Given the description of an element on the screen output the (x, y) to click on. 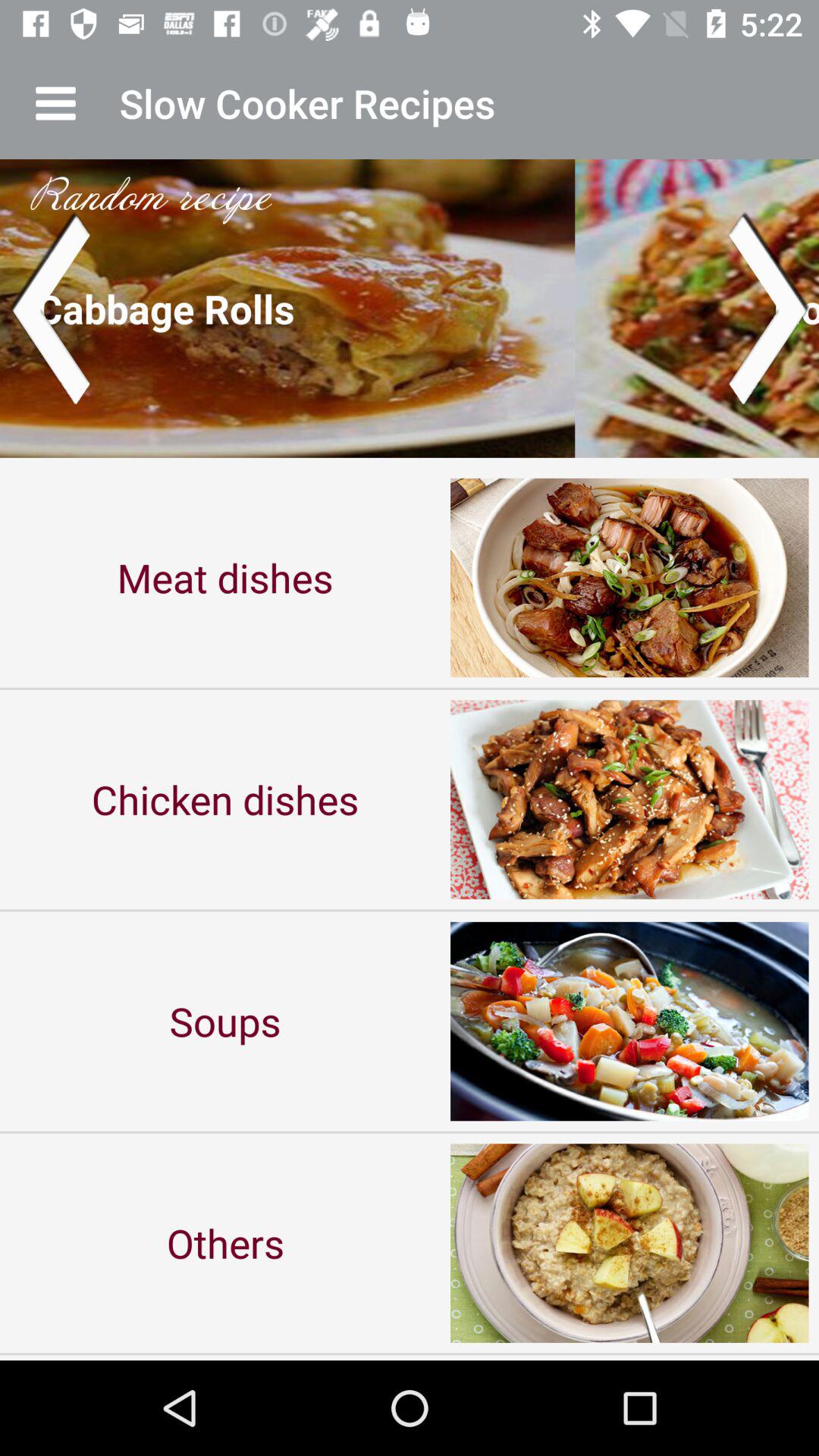
turn off the item above the chicken dishes icon (225, 577)
